Given the description of an element on the screen output the (x, y) to click on. 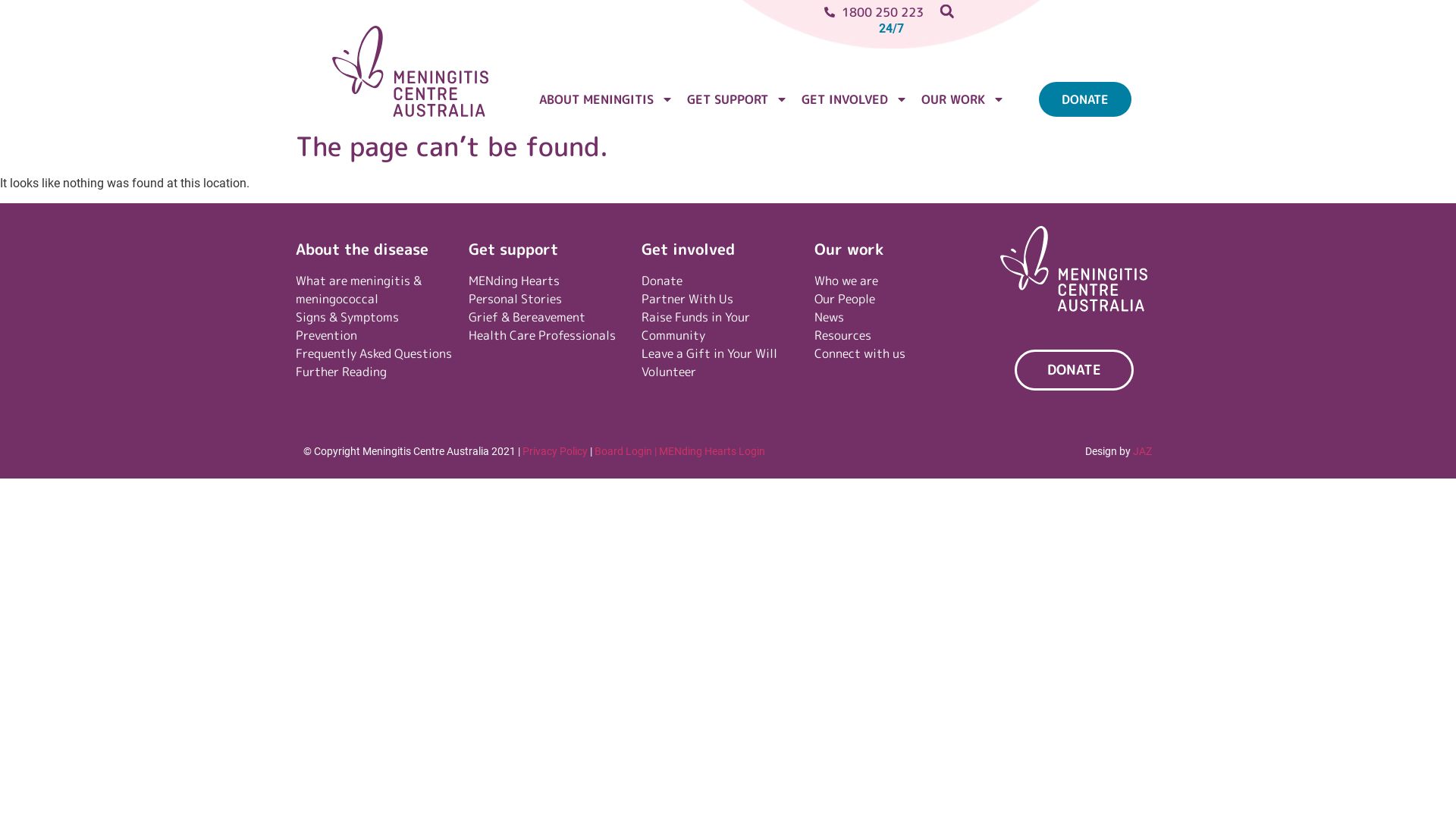
DONATE Element type: text (1084, 98)
Frequently Asked Questions Element type: text (381, 353)
MENding Hearts Login Element type: text (711, 451)
Partner With Us Element type: text (723, 298)
GET INVOLVED Element type: text (854, 98)
1800 250 223 Element type: text (776, 12)
Further Reading Element type: text (381, 371)
ABOUT MENINGITIS Element type: text (606, 98)
Signs & Symptoms Element type: text (381, 316)
Donate Element type: text (723, 280)
MENding Hearts Element type: text (550, 280)
News Element type: text (896, 316)
OUR WORK Element type: text (962, 98)
Leave a Gift in Your Will Element type: text (723, 353)
Personal Stories Element type: text (550, 298)
Privacy Policy Element type: text (554, 451)
Volunteer Element type: text (723, 371)
GET SUPPORT Element type: text (737, 98)
Prevention Element type: text (381, 335)
Board Login | Element type: text (625, 451)
Connect with us Element type: text (896, 353)
Grief & Bereavement Element type: text (550, 316)
DONATE Element type: text (1073, 369)
Our People Element type: text (896, 298)
JAZ Element type: text (1141, 451)
Health Care Professionals Element type: text (550, 335)
What are meningitis & meningococcal Element type: text (381, 289)
Who we are Element type: text (896, 280)
Resources Element type: text (896, 335)
Raise Funds in Your Community Element type: text (723, 325)
